Given the description of an element on the screen output the (x, y) to click on. 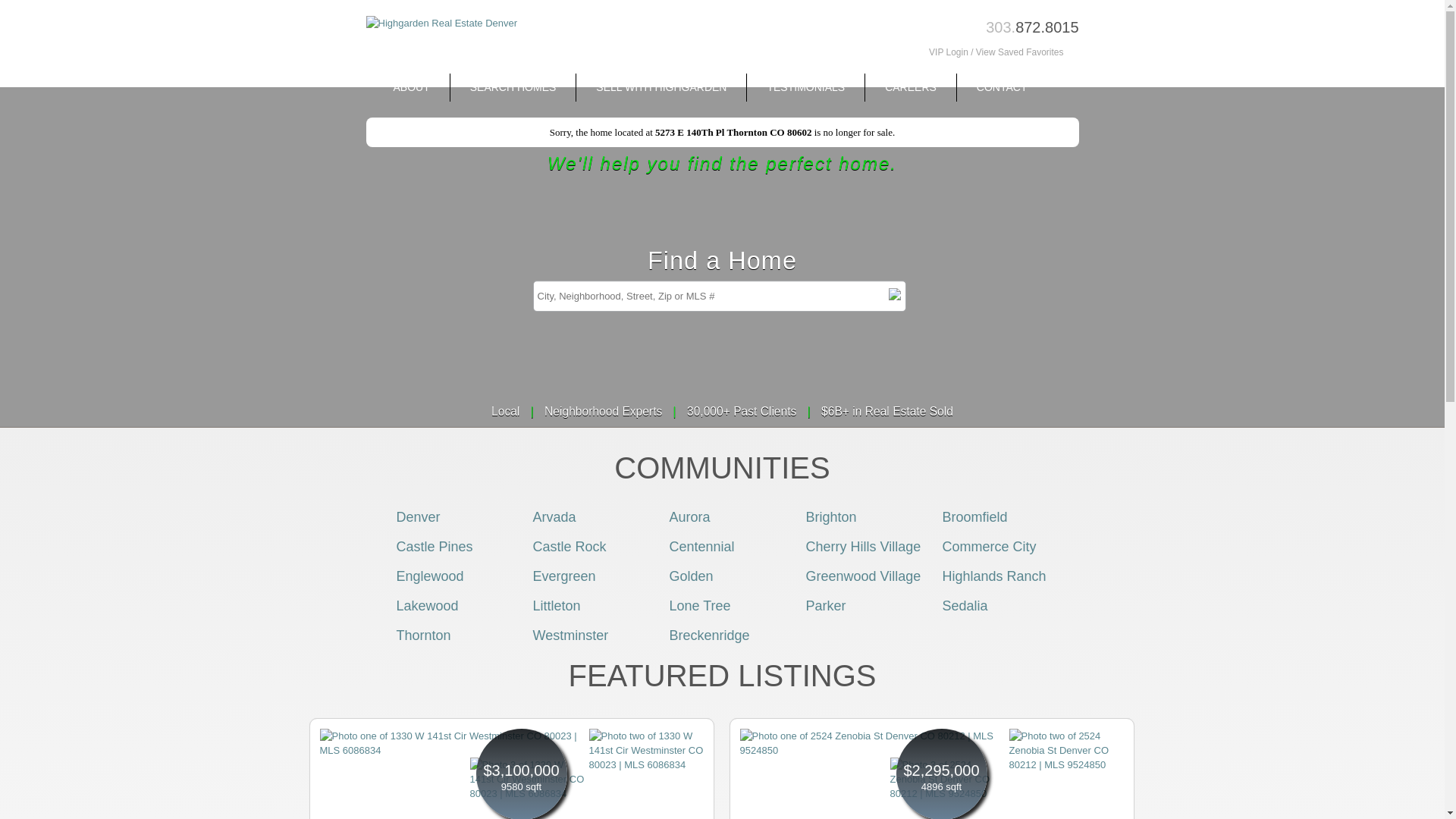
View Commerce City, CO homes for sale. (988, 546)
View Englewood, CO homes for sale. (429, 575)
Sell with Highgarden (661, 87)
Greenwood Village (862, 575)
Centennial (700, 546)
Denver (417, 516)
View Evergreen, CO homes for sale. (563, 575)
Careers (910, 87)
View Castle Pines, CO homes for sale. (433, 546)
Aurora (689, 516)
View Centennial, CO homes for sale. (700, 546)
Testimonials (805, 87)
TESTIMONIALS (805, 87)
Lone Tree (699, 605)
Littleton (555, 605)
